Given the description of an element on the screen output the (x, y) to click on. 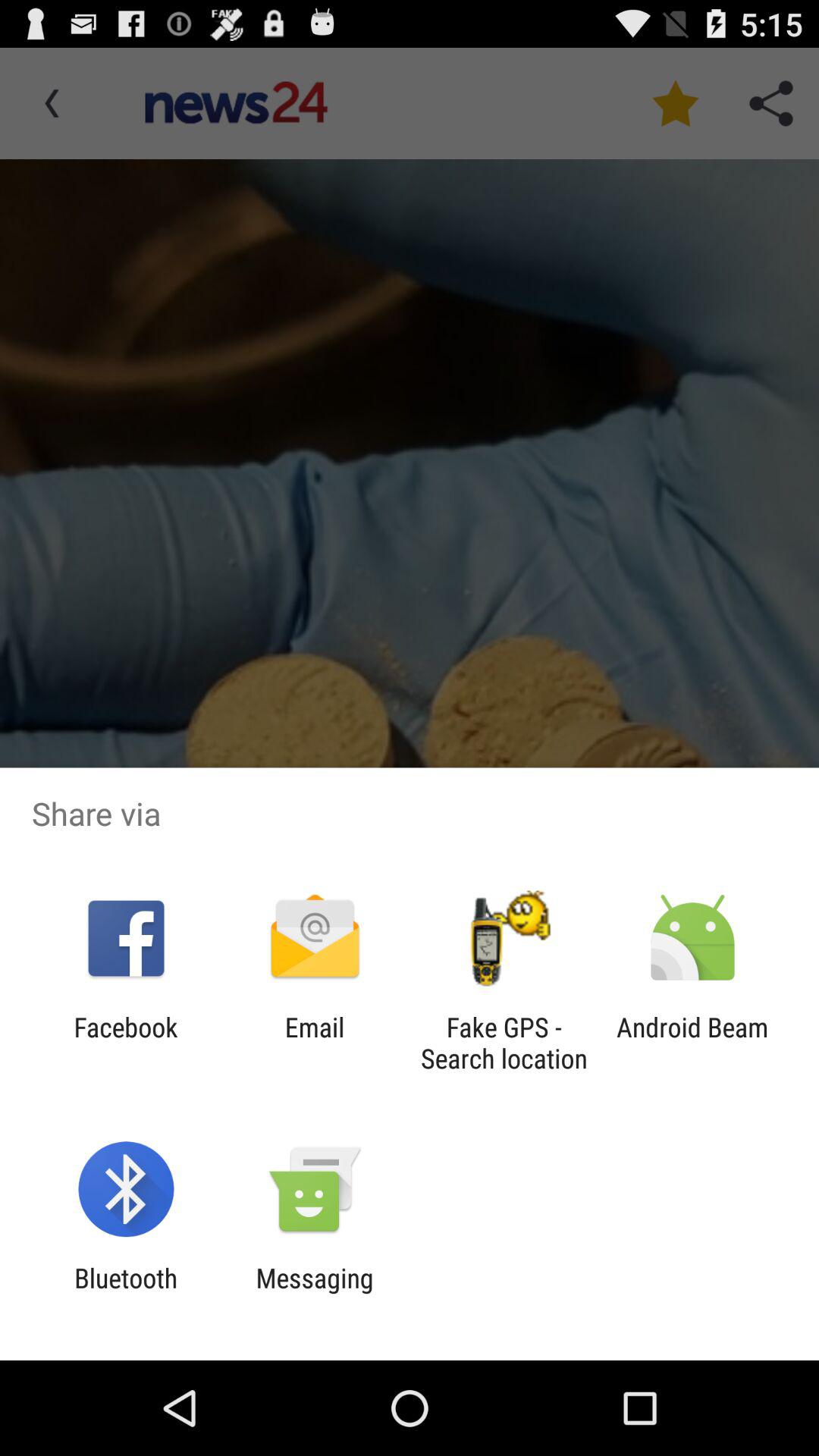
swipe to the fake gps search (503, 1042)
